Given the description of an element on the screen output the (x, y) to click on. 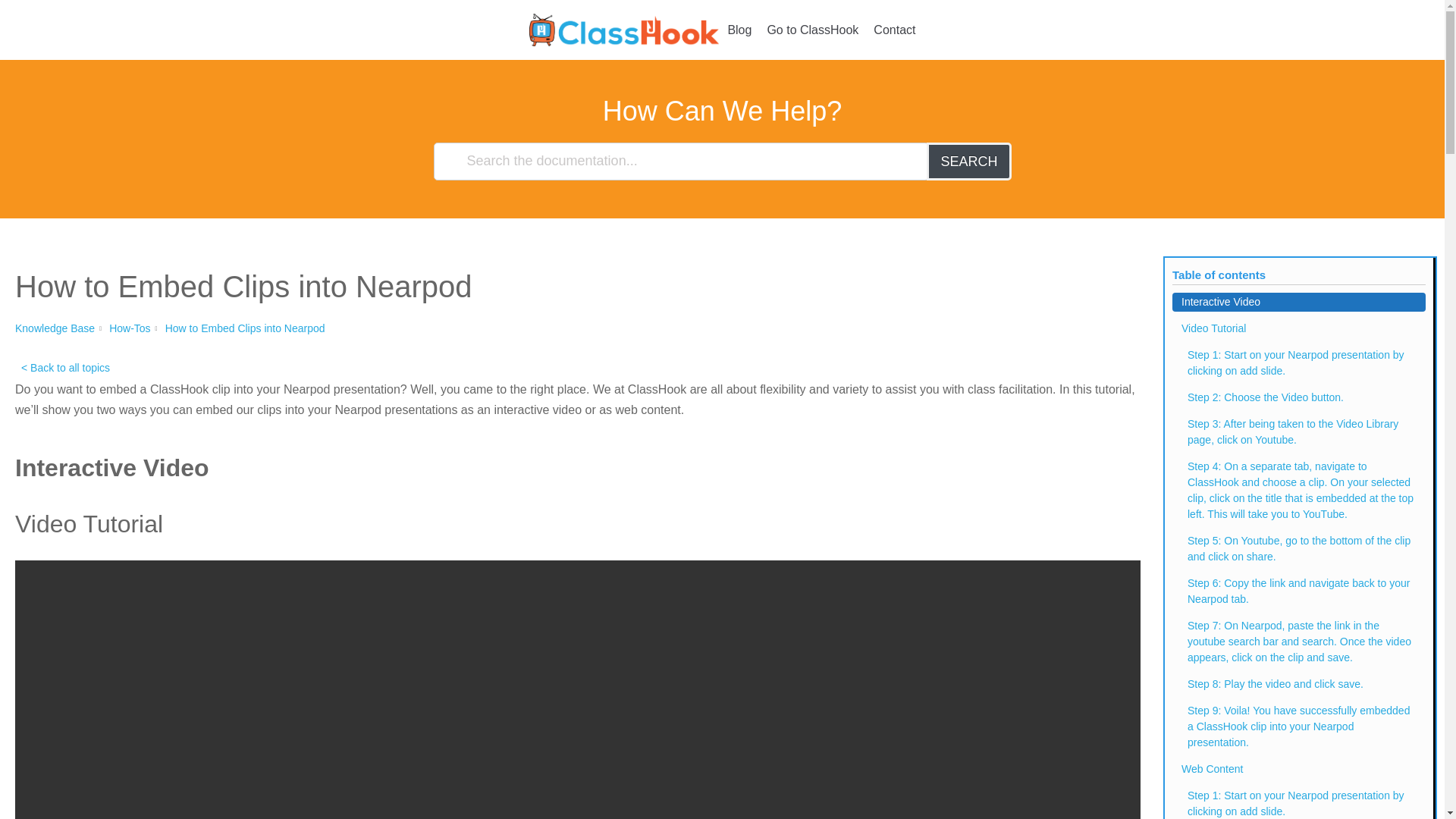
Step 2: Choose the Video button. (1298, 397)
Skip to content (15, 7)
Step 6: Copy the link and navigate back to your Nearpod tab. (1298, 591)
Interactive Video (1298, 302)
How-Tos (129, 328)
Video Tutorial (1298, 328)
Step 8: Play the video and click save. (1298, 683)
Web Content (1298, 769)
Go to ClassHook (813, 30)
Contact (894, 30)
